Given the description of an element on the screen output the (x, y) to click on. 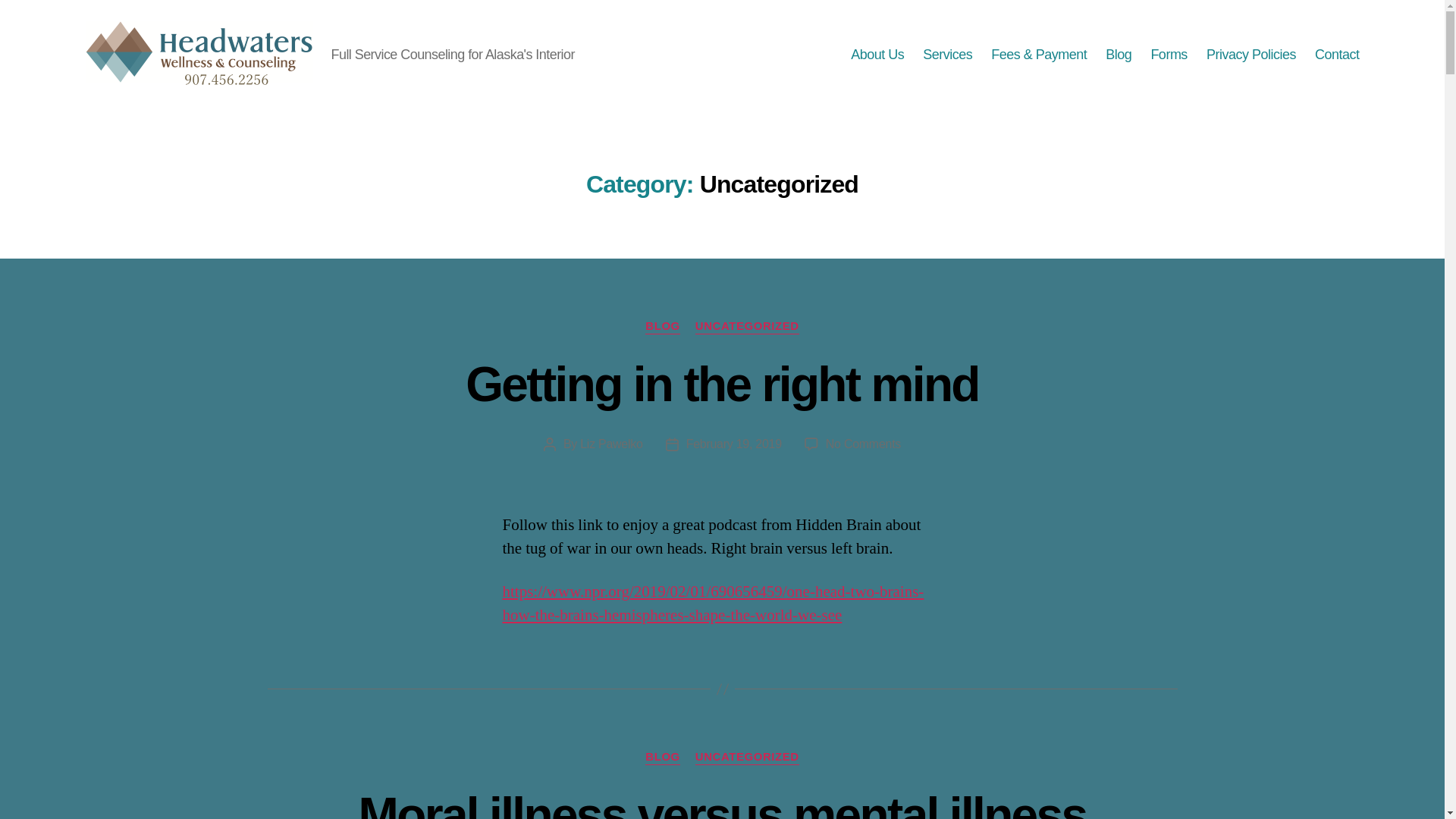
Forms (1169, 54)
BLOG (662, 757)
BLOG (662, 326)
February 19, 2019 (733, 443)
Blog (1118, 54)
Contact (863, 443)
About Us (1336, 54)
Privacy Policies (877, 54)
Moral illness versus mental illness (1251, 54)
